Given the description of an element on the screen output the (x, y) to click on. 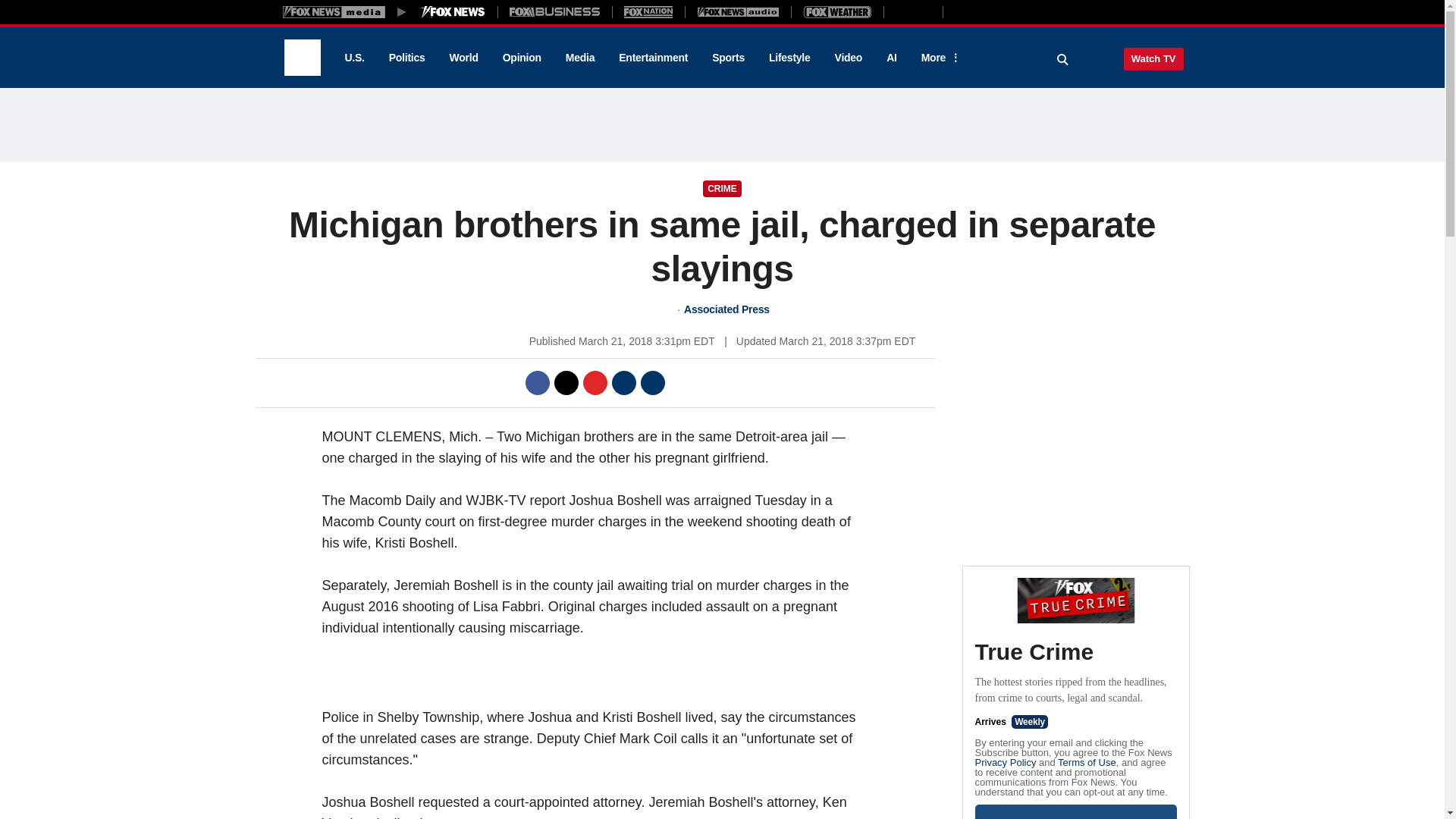
More (938, 57)
World (464, 57)
Books (1007, 11)
AI (891, 57)
Fox News Audio (737, 11)
Outkick (912, 11)
Politics (407, 57)
Fox Business (554, 11)
Video (848, 57)
Opinion (521, 57)
